Given the description of an element on the screen output the (x, y) to click on. 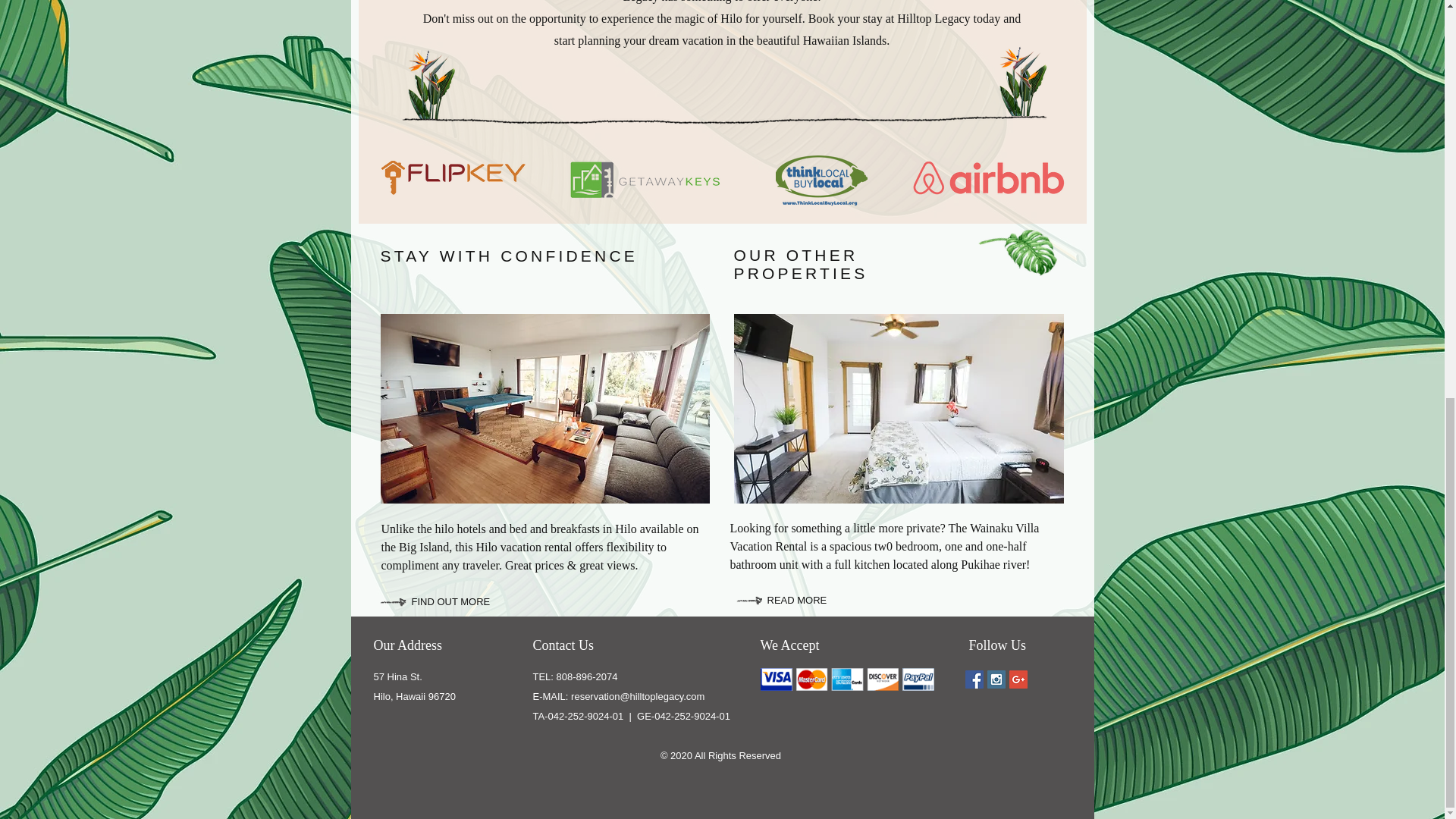
FIND OUT MORE (472, 602)
READ MORE (812, 600)
Book Now Hilltop Legacy (722, 17)
